Given the description of an element on the screen output the (x, y) to click on. 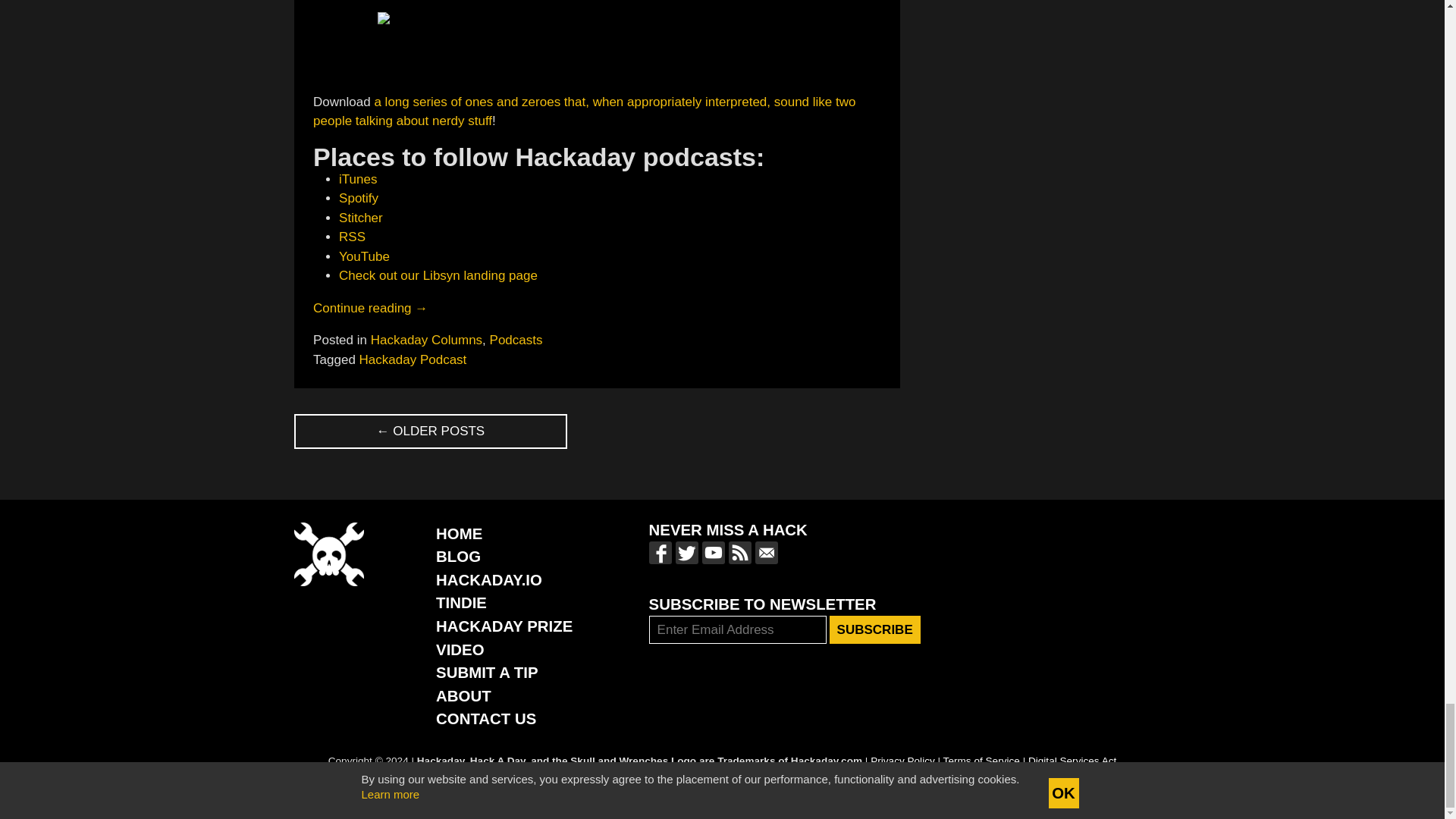
Subscribe (874, 629)
